Given the description of an element on the screen output the (x, y) to click on. 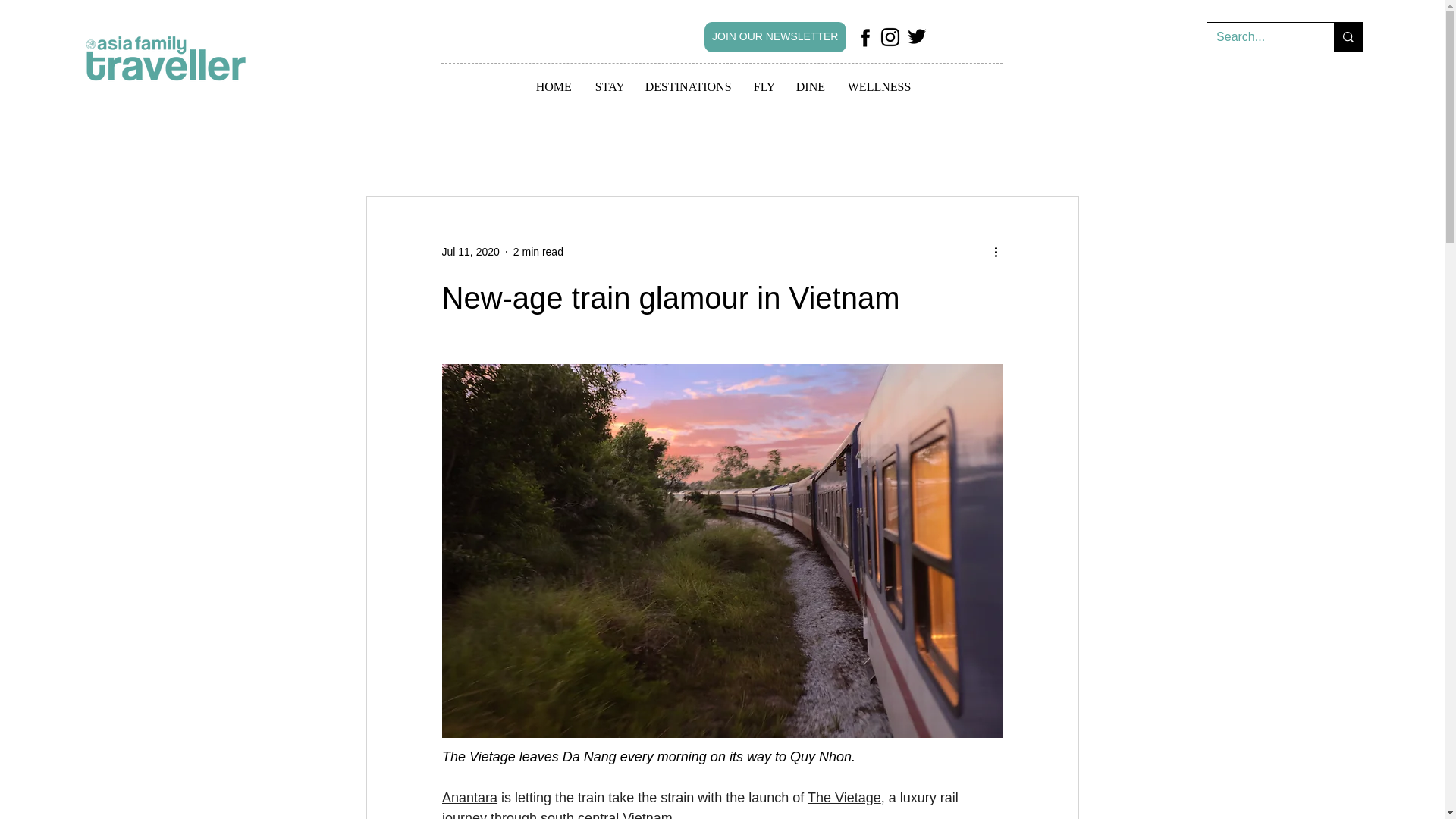
STAY (608, 87)
Anantara (468, 797)
DESTINATIONS (687, 87)
2 min read (538, 251)
JOIN OUR NEWSLETTER (774, 37)
FLY (763, 87)
DINE (809, 87)
Jul 11, 2020 (470, 251)
HOME (553, 87)
WELLNESS (877, 87)
